Given the description of an element on the screen output the (x, y) to click on. 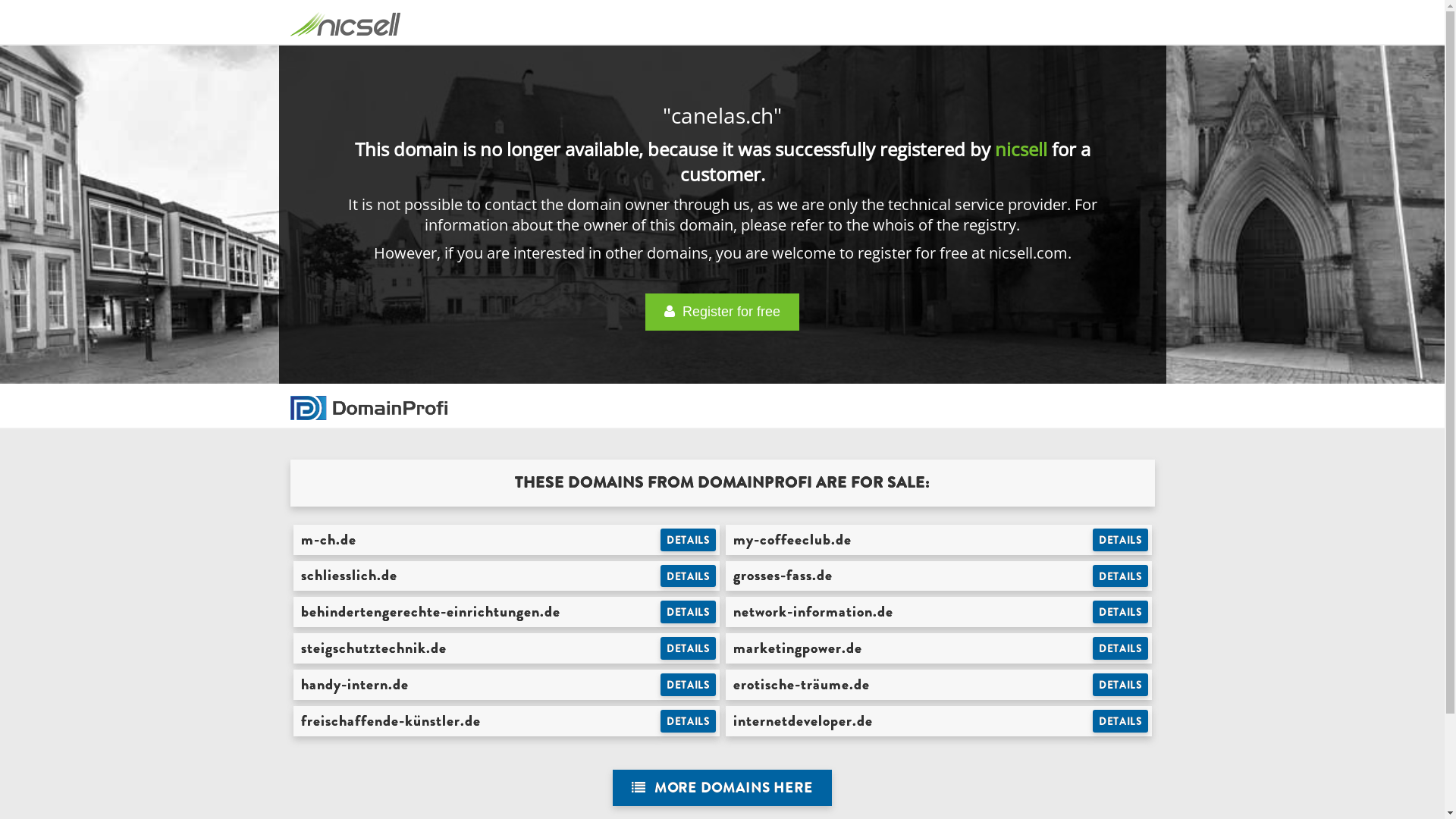
DETAILS Element type: text (687, 648)
DETAILS Element type: text (687, 575)
DETAILS Element type: text (687, 611)
DETAILS Element type: text (687, 539)
DETAILS Element type: text (687, 684)
DETAILS Element type: text (1120, 648)
DETAILS Element type: text (1120, 611)
  MORE DOMAINS HERE Element type: text (721, 787)
DETAILS Element type: text (1120, 575)
DETAILS Element type: text (687, 720)
DETAILS Element type: text (1120, 684)
DETAILS Element type: text (1120, 539)
  Register for free Element type: text (722, 311)
nicsell Element type: text (1020, 148)
DETAILS Element type: text (1120, 720)
